Given the description of an element on the screen output the (x, y) to click on. 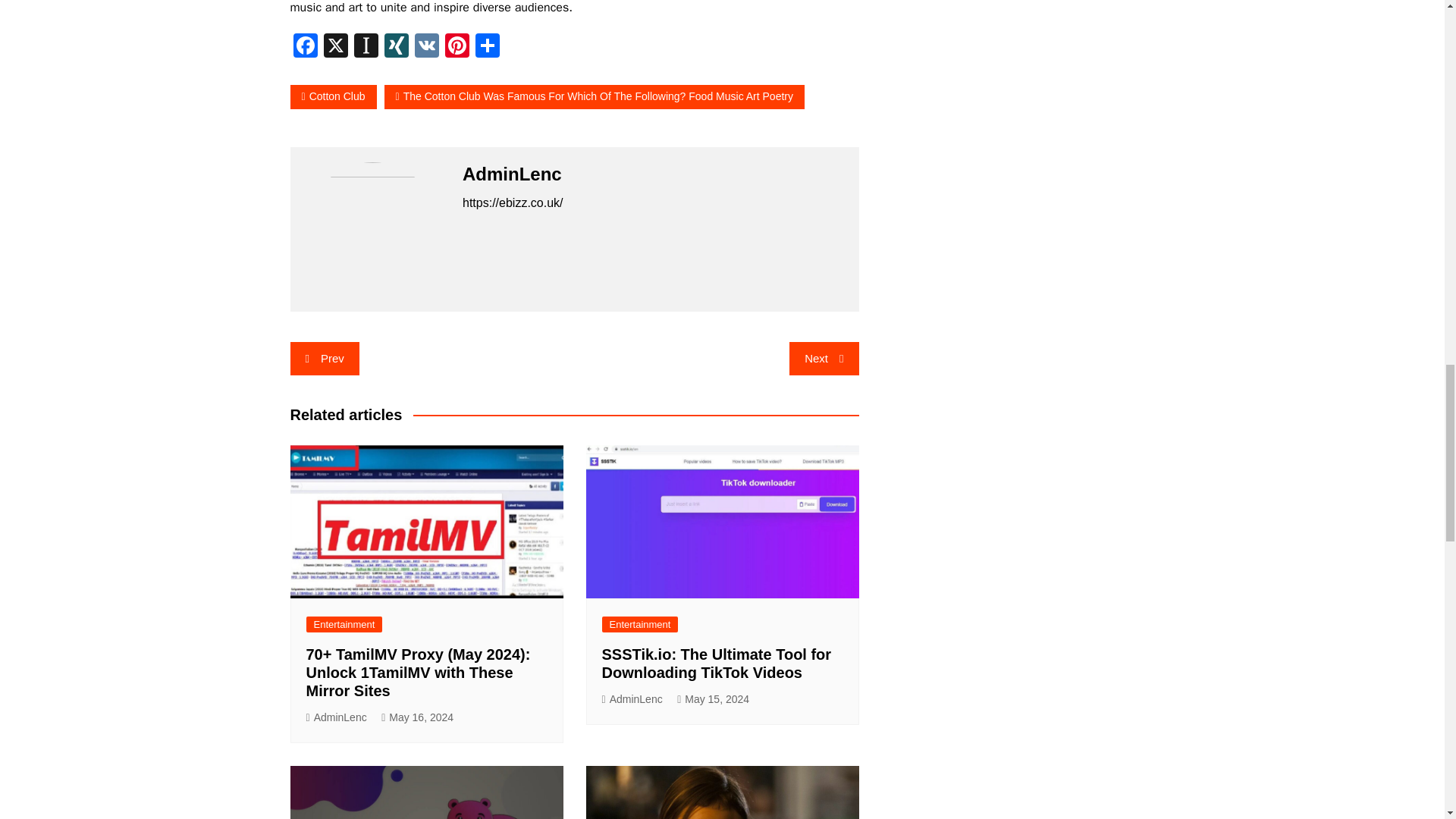
XING (395, 47)
Pinterest (456, 47)
X (335, 47)
Instapaper (365, 47)
VK (425, 47)
Facebook (304, 47)
